Given the description of an element on the screen output the (x, y) to click on. 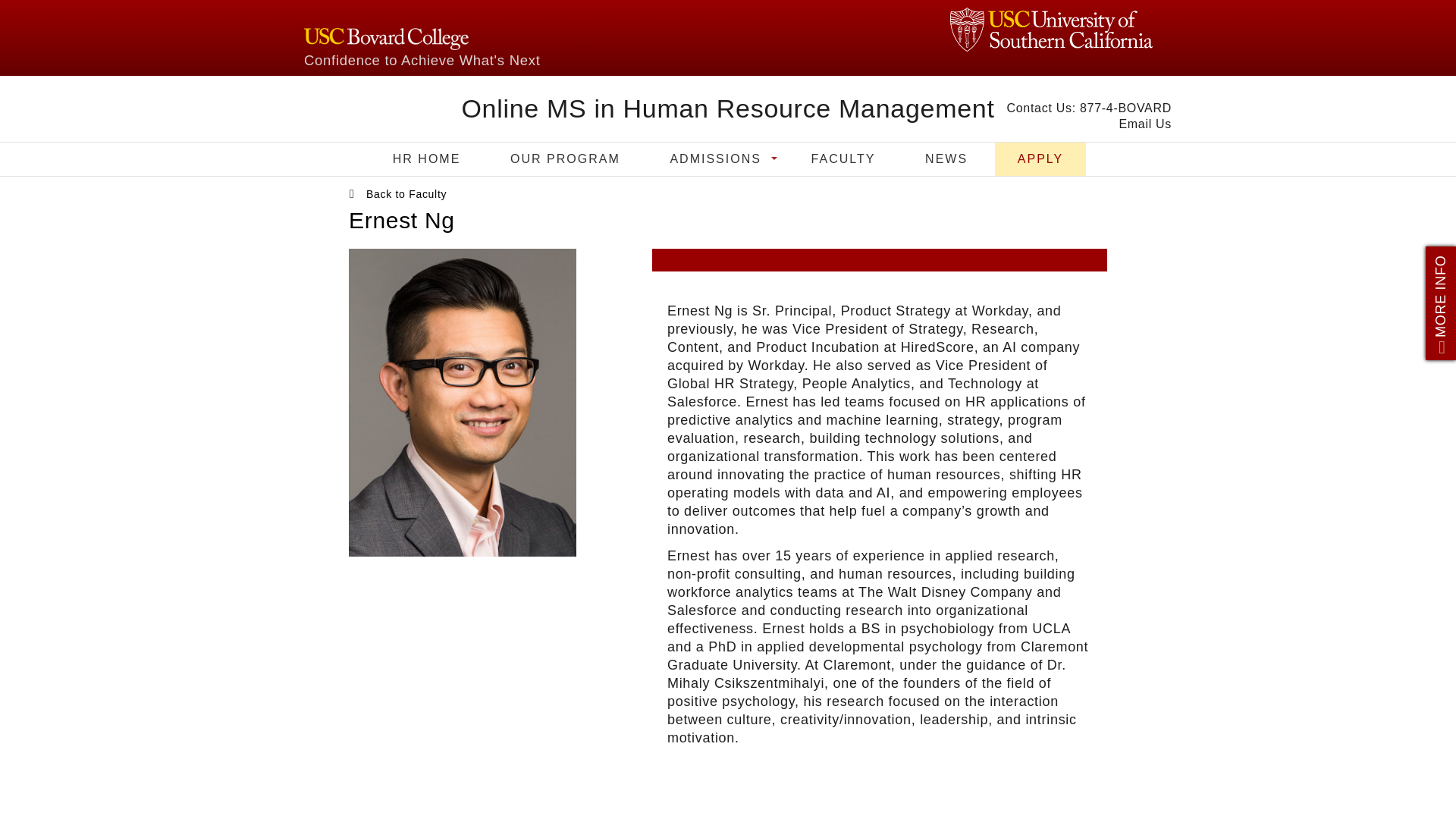
University of Southern California (1051, 29)
HR HOME (426, 159)
NEWS (946, 159)
ADMISSIONS (714, 159)
Back to Faculty (406, 193)
APPLY (1040, 159)
OUR PROGRAM (565, 159)
Email Us (1145, 123)
FACULTY (843, 159)
